Given the description of an element on the screen output the (x, y) to click on. 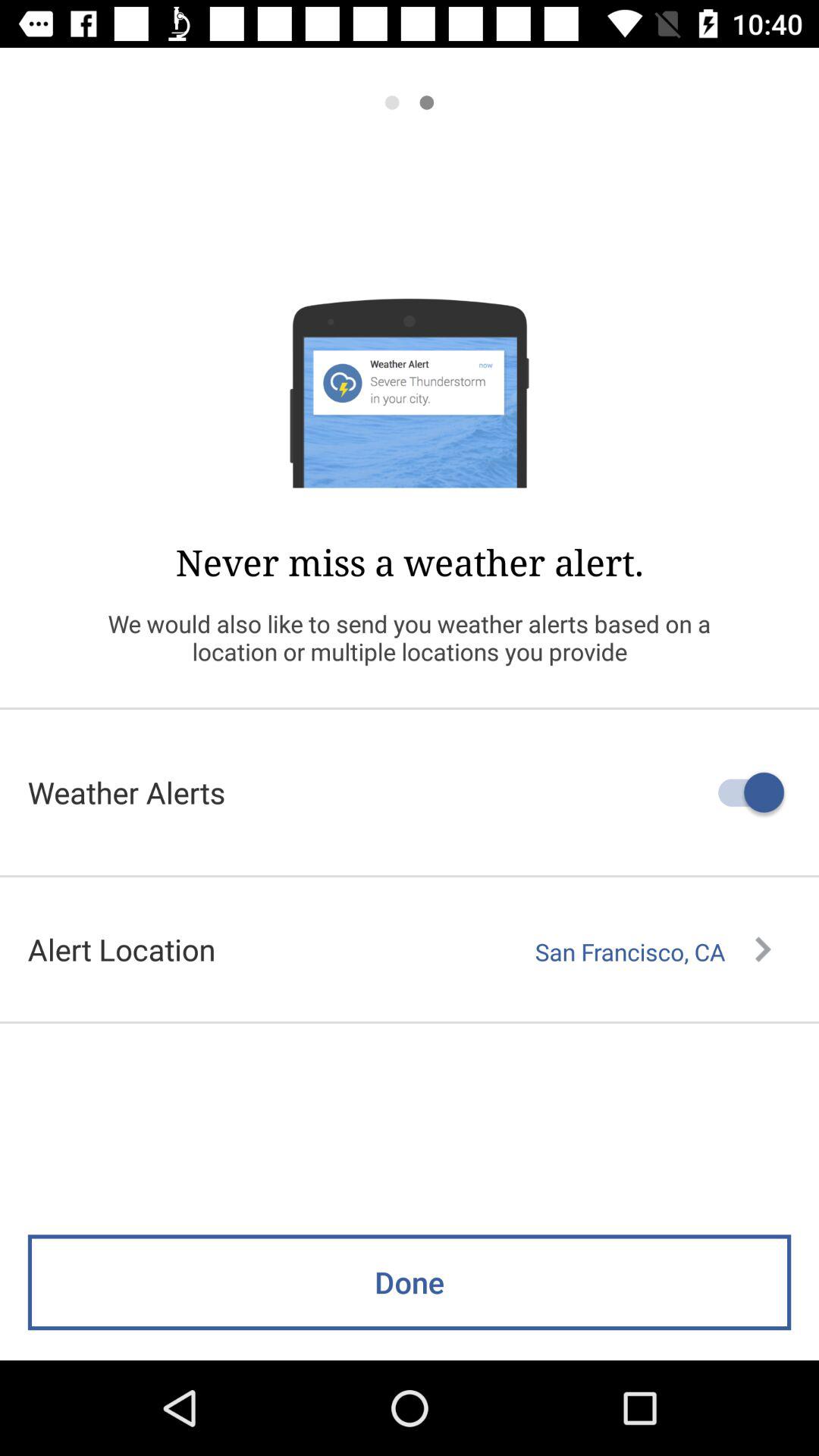
swipe until san francisco, ca item (653, 951)
